Given the description of an element on the screen output the (x, y) to click on. 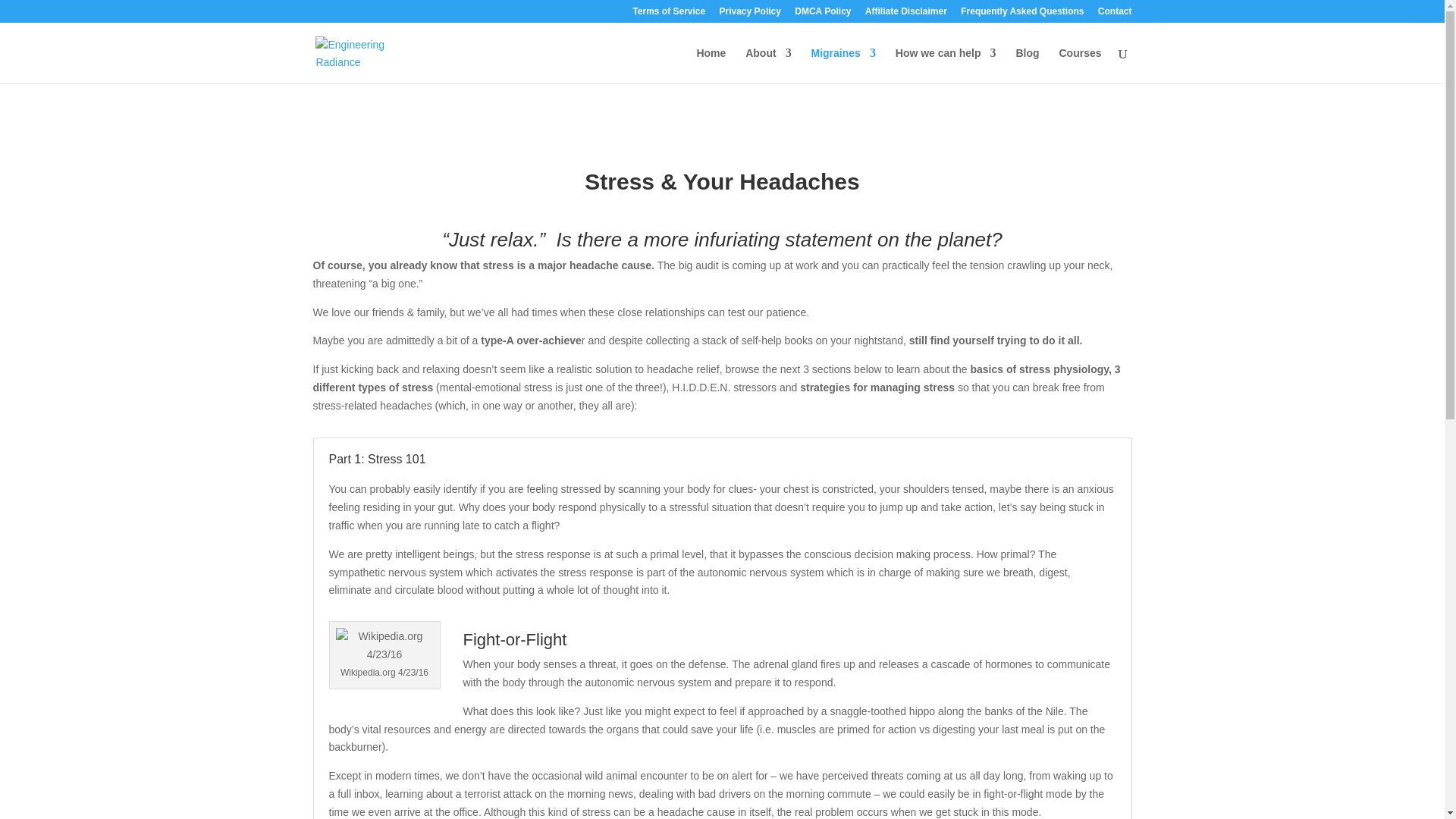
Terms of Service (667, 14)
Privacy Policy (749, 14)
Courses (1079, 65)
Migraines (843, 65)
How we can help (945, 65)
About (767, 65)
Contact (1114, 14)
Affiliate Disclaimer (905, 14)
DMCA Policy (822, 14)
Frequently Asked Questions (1021, 14)
